Given the description of an element on the screen output the (x, y) to click on. 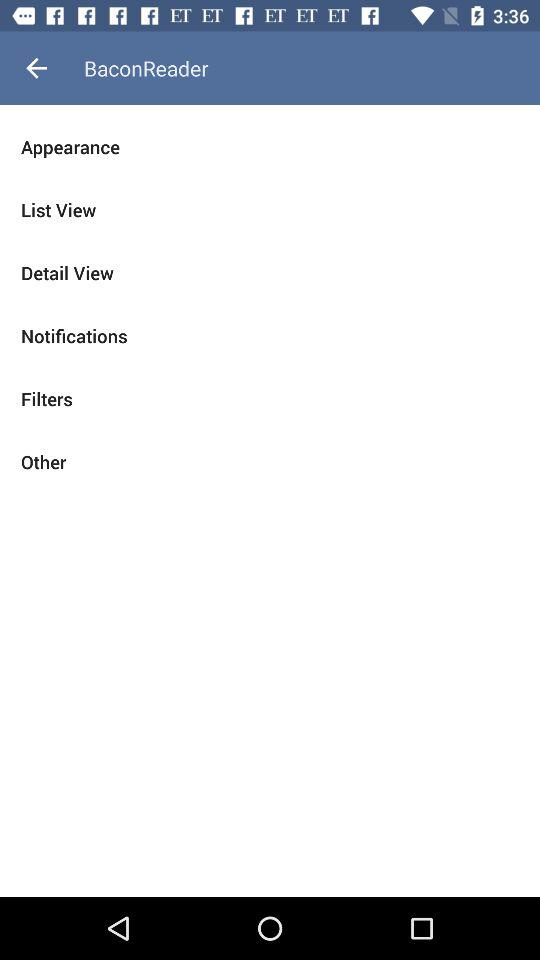
turn on the icon below filters (270, 461)
